Given the description of an element on the screen output the (x, y) to click on. 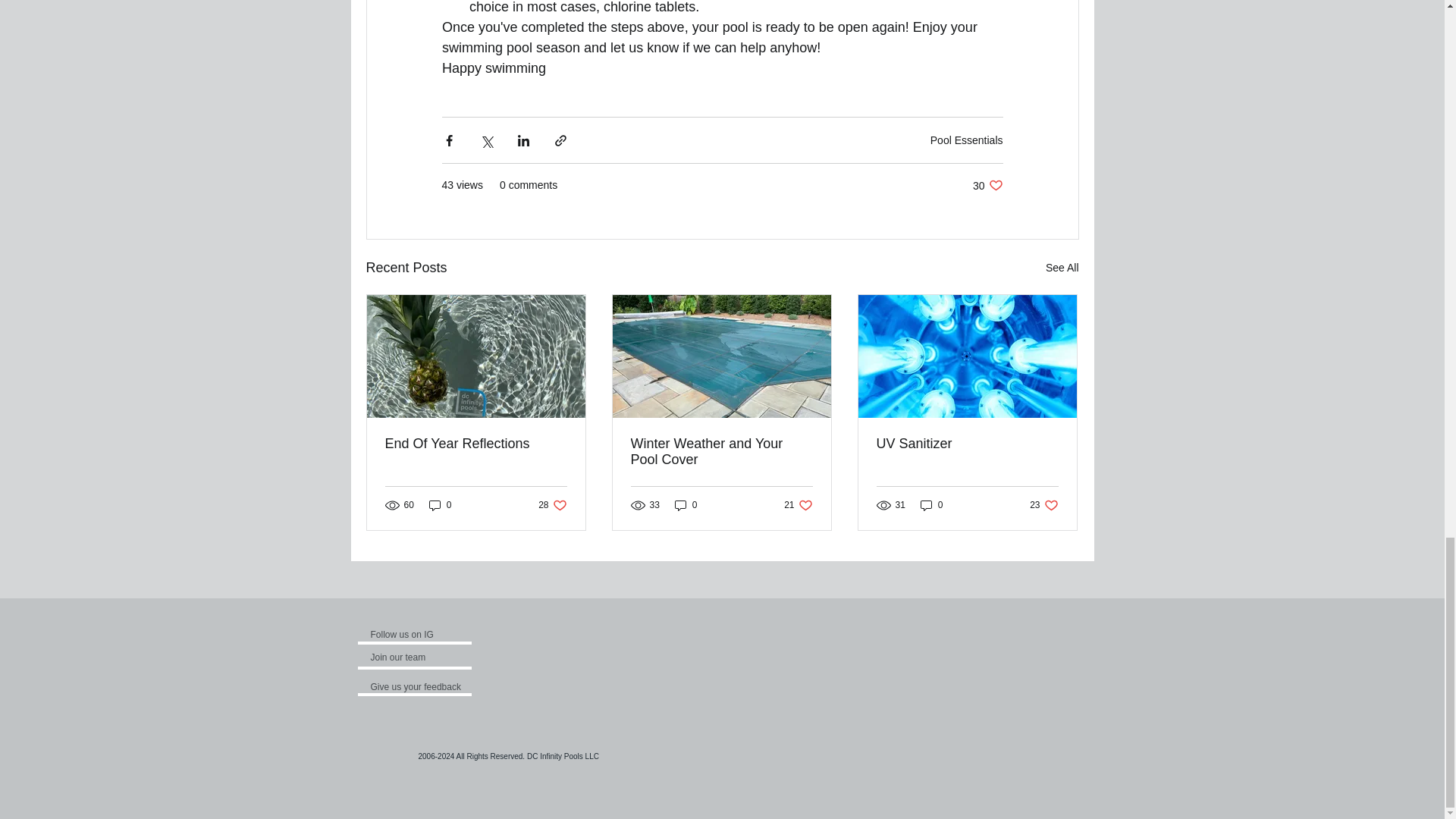
Follow us on IG (415, 634)
Join our team (552, 504)
Winter Weather and Your Pool Cover (410, 657)
Pool Essentials (721, 451)
End Of Year Reflections (966, 140)
See All (987, 185)
UV Sanitizer (476, 443)
Give us your feedback (1061, 268)
